Given the description of an element on the screen output the (x, y) to click on. 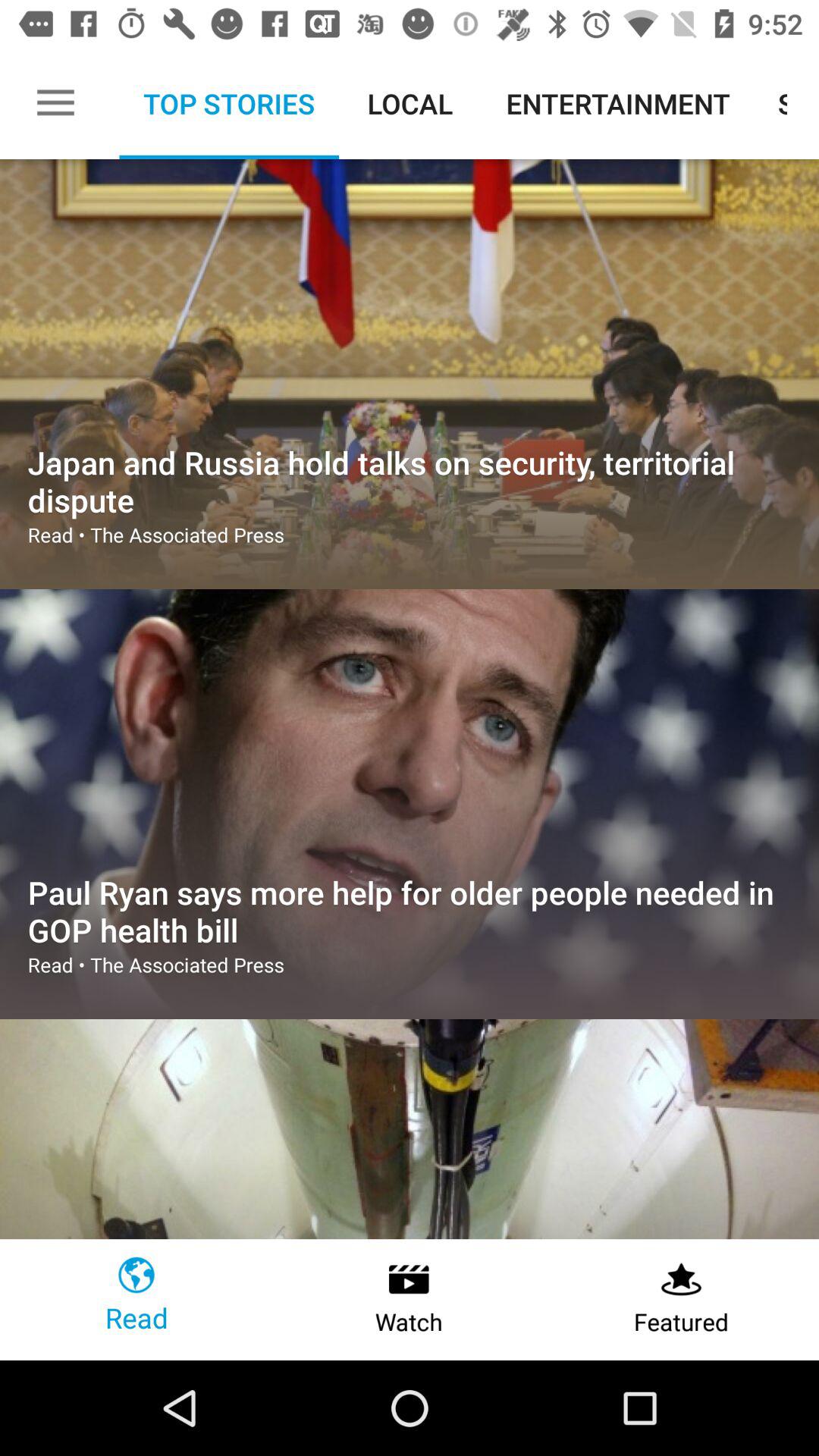
launch the item next to top stories icon (55, 103)
